Given the description of an element on the screen output the (x, y) to click on. 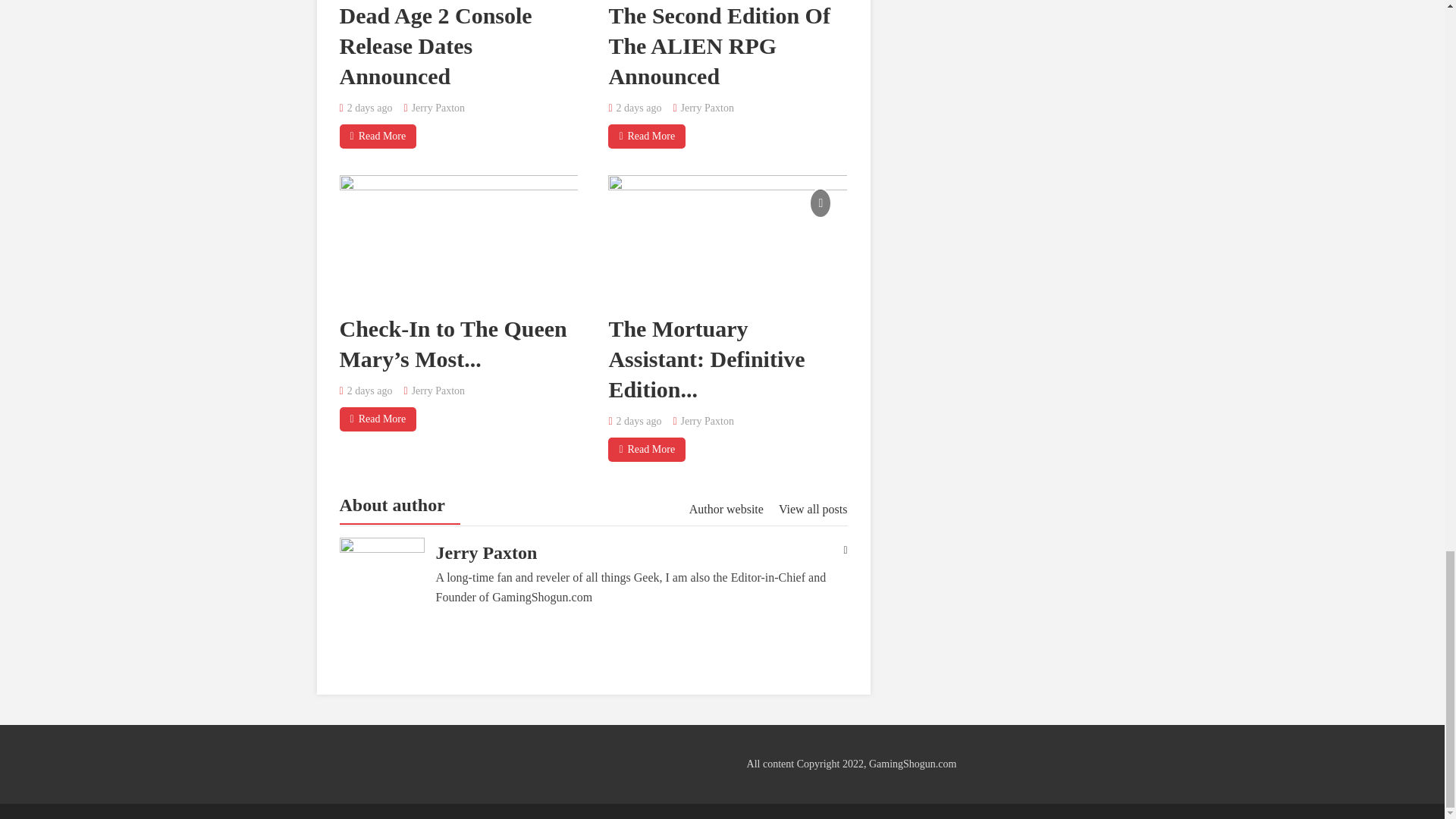
Dead Age 2 Console Release Dates Announced (435, 45)
